Given the description of an element on the screen output the (x, y) to click on. 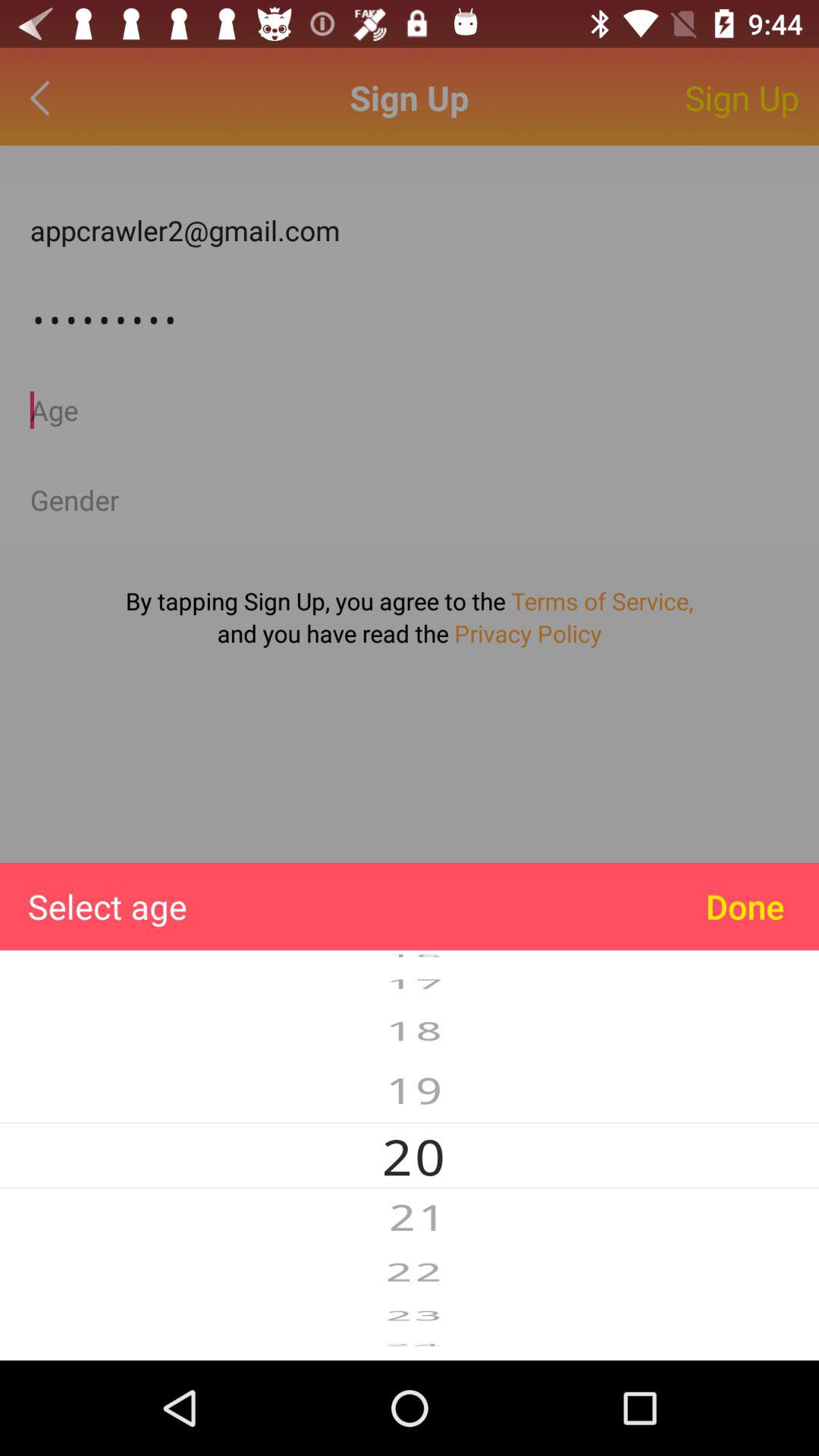
insert age (409, 410)
